Given the description of an element on the screen output the (x, y) to click on. 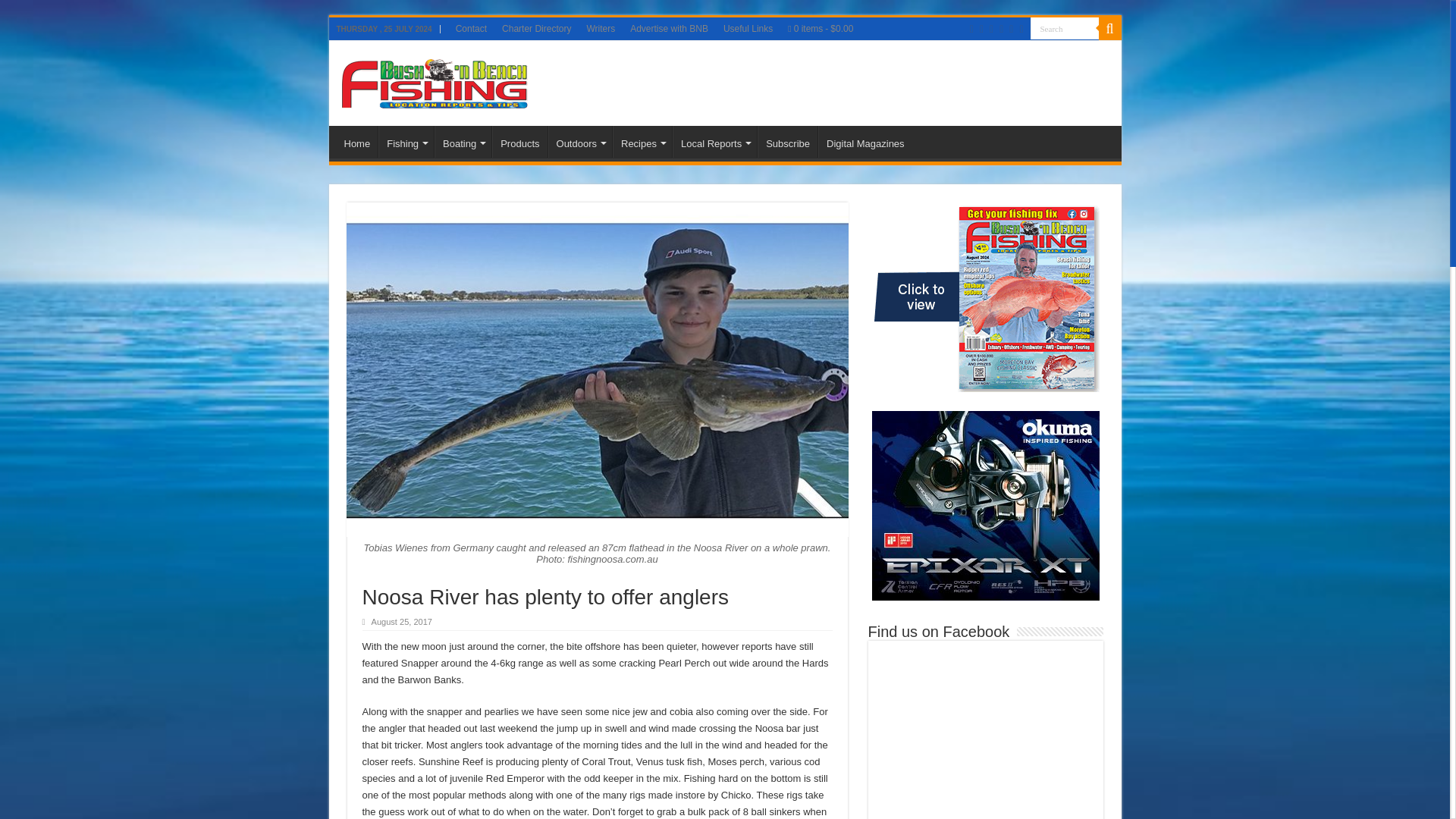
Search (1063, 28)
Search (1063, 28)
Search (1063, 28)
Start shopping (820, 28)
